Given the description of an element on the screen output the (x, y) to click on. 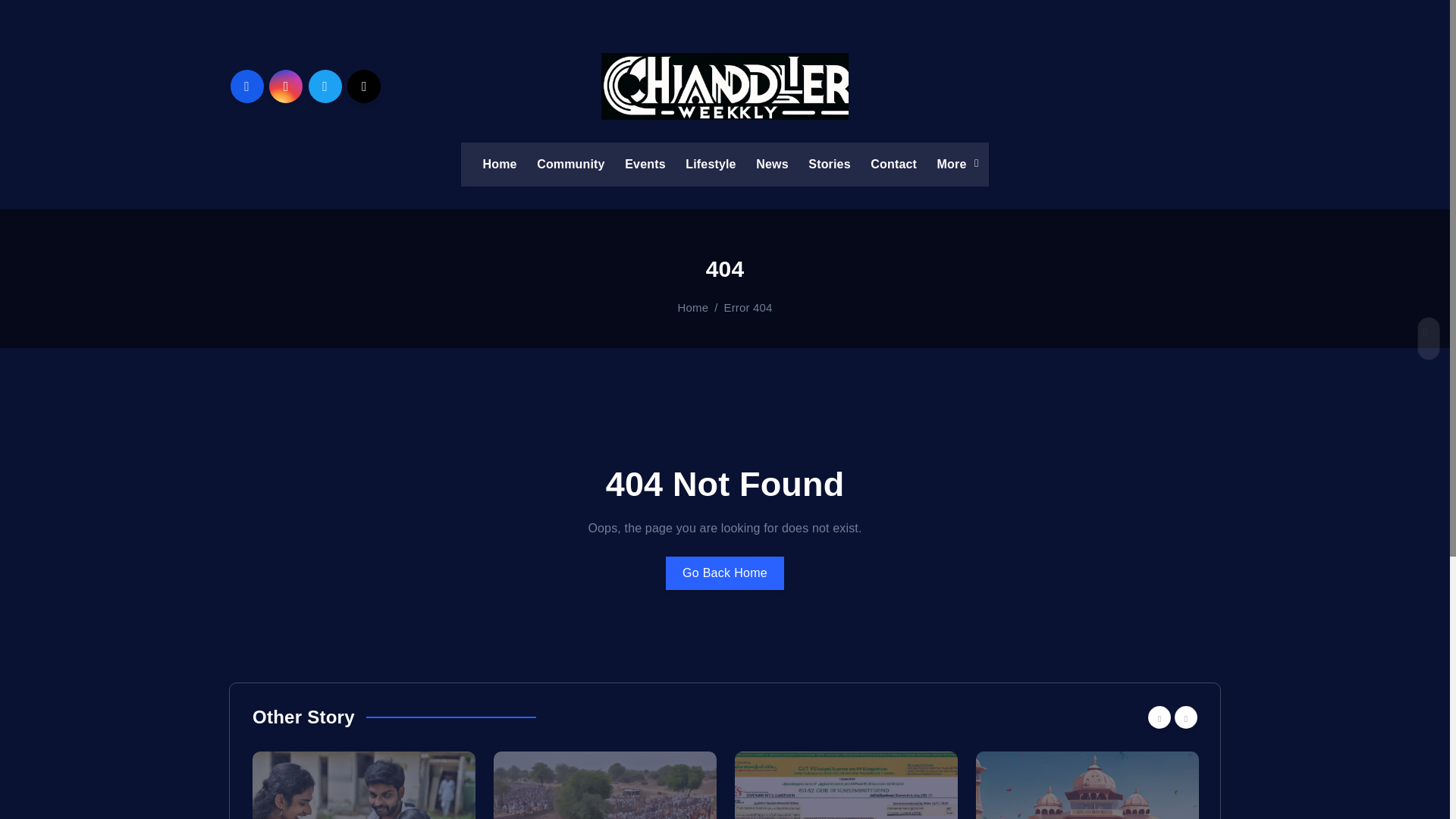
Events (644, 164)
More (953, 164)
Lifestyle (710, 164)
Community (569, 164)
Stories (829, 164)
Stories (829, 164)
More (953, 164)
Home (499, 164)
News (771, 164)
Lifestyle (710, 164)
Community (569, 164)
Contact (893, 164)
Home (499, 164)
Events (644, 164)
Contact (893, 164)
